Given the description of an element on the screen output the (x, y) to click on. 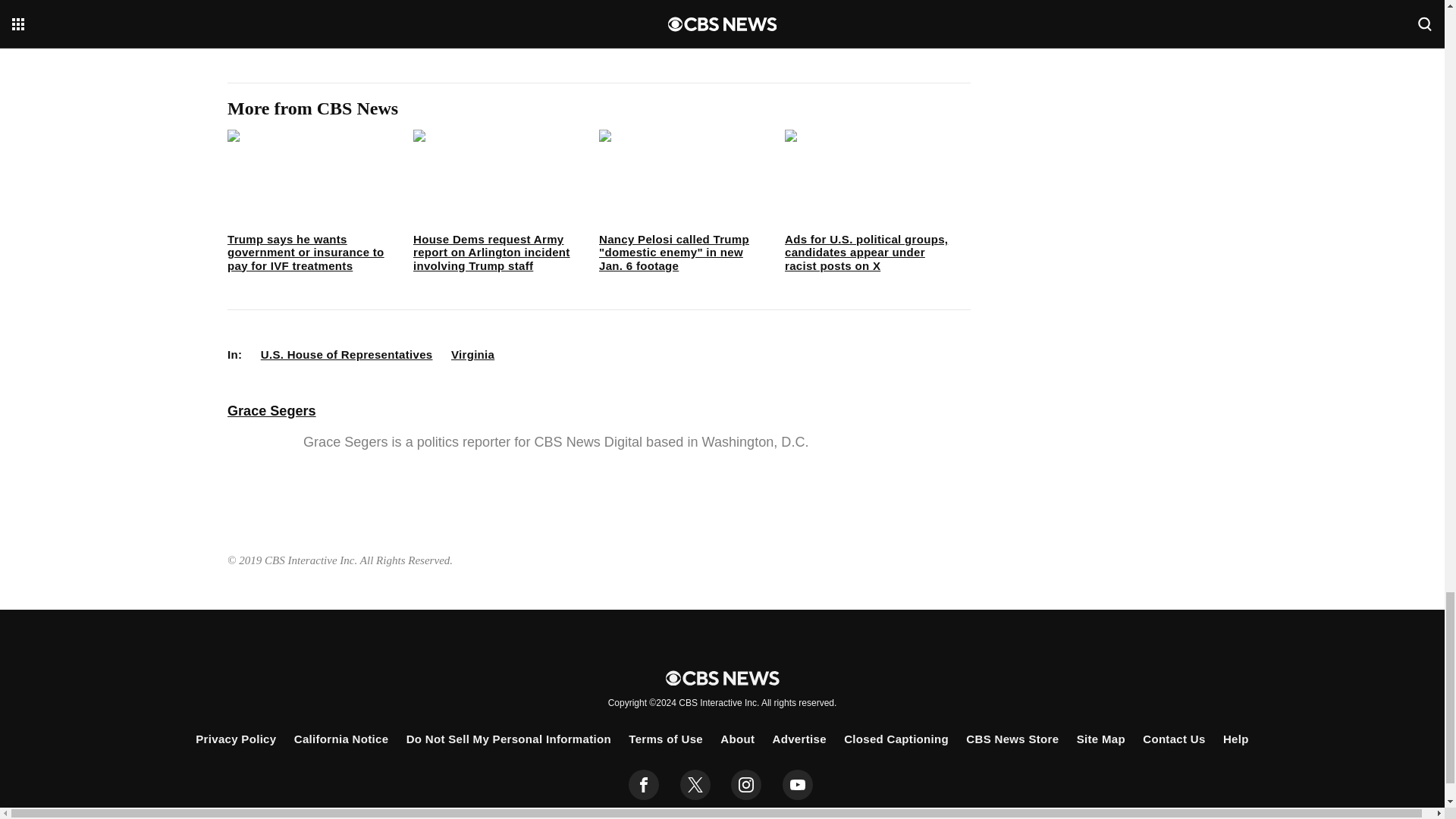
youtube (797, 784)
facebook (643, 784)
instagram (745, 784)
twitter (694, 784)
